Given the description of an element on the screen output the (x, y) to click on. 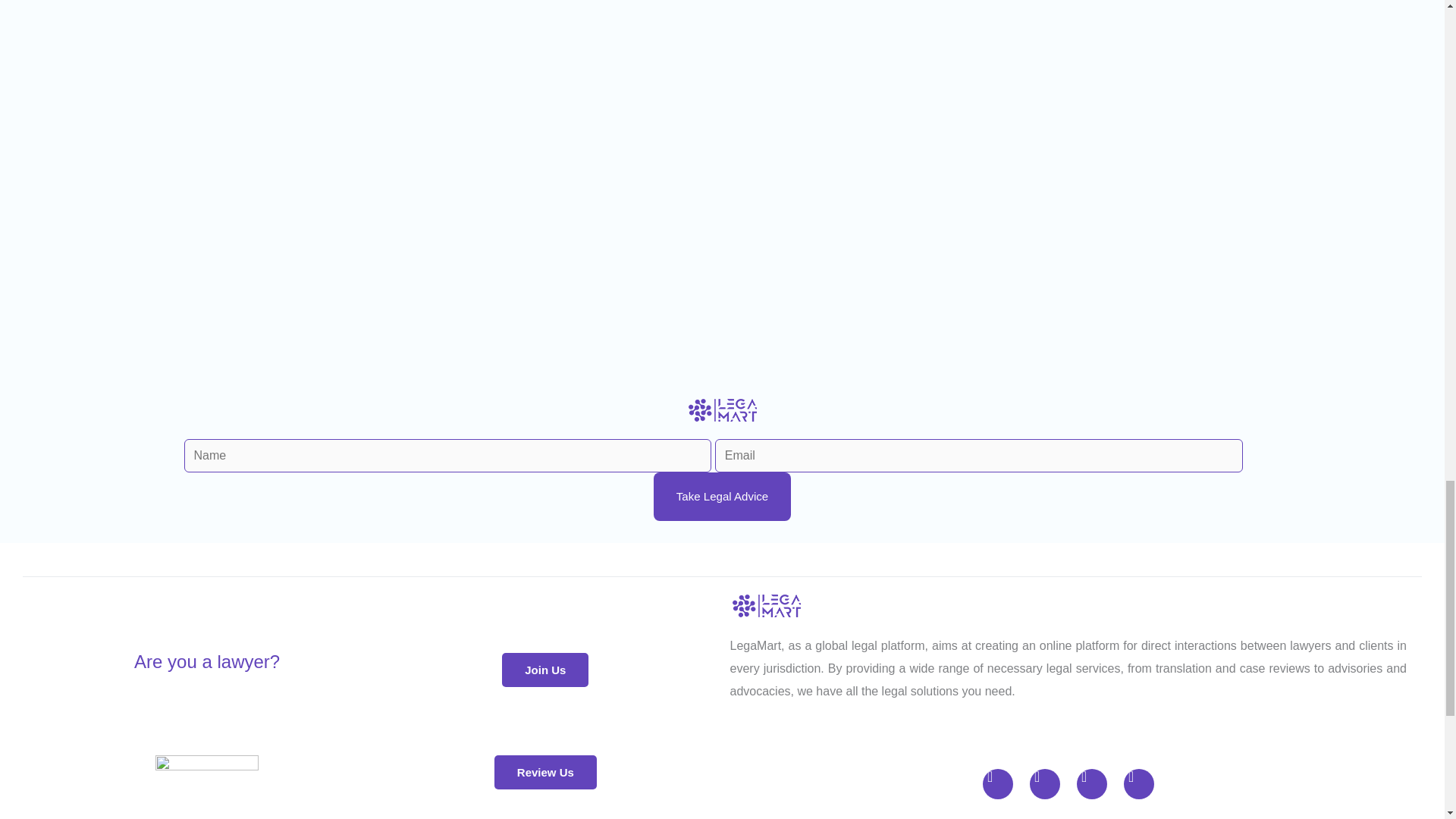
Take Legal Advice (721, 496)
Review Us (545, 772)
Take Legal Advice (721, 496)
Join Us (545, 669)
